Given the description of an element on the screen output the (x, y) to click on. 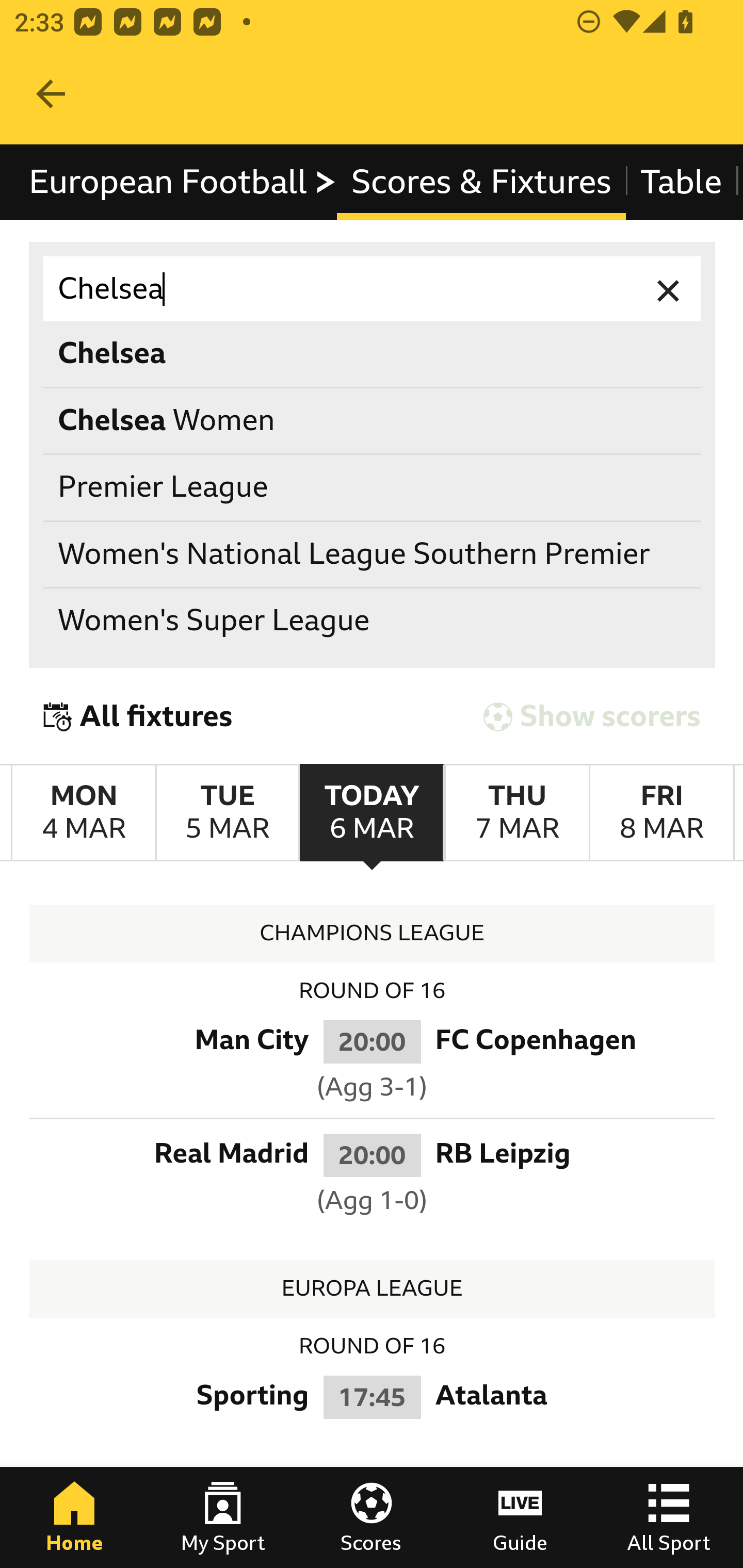
Navigate up (50, 93)
European Football  (182, 181)
Scores & Fixtures (480, 181)
Table (681, 181)
Chelsea (372, 289)
Clear input (669, 289)
Chelsea Women Chelsea  Women (372, 419)
Premier League (372, 488)
Women's National League Southern Premier (372, 554)
Women's Super League (372, 620)
All fixtures (137, 716)
Show scorers (591, 716)
MondayMarch 4th Monday March 4th (83, 812)
TuesdayMarch 5th Tuesday March 5th (227, 812)
ThursdayMarch 7th Thursday March 7th (516, 812)
FridayMarch 8th Friday March 8th (661, 812)
My Sport (222, 1517)
Scores (371, 1517)
Guide (519, 1517)
All Sport (668, 1517)
